Given the description of an element on the screen output the (x, y) to click on. 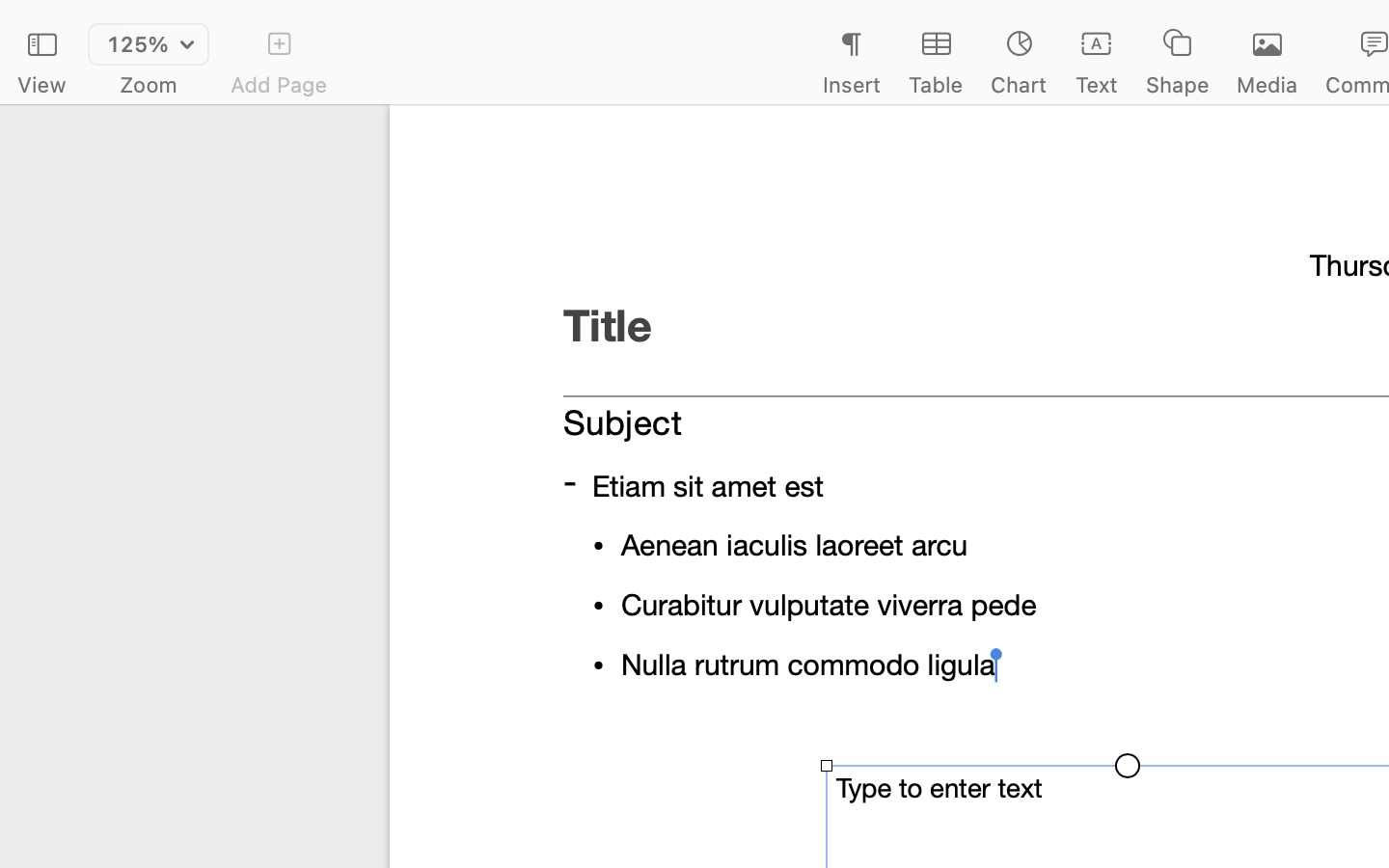
Insert Element type: AXStaticText (850, 84)
Untitled Element type: AXStaticText (1334, 24)
Zoom Element type: AXStaticText (148, 84)
